Given the description of an element on the screen output the (x, y) to click on. 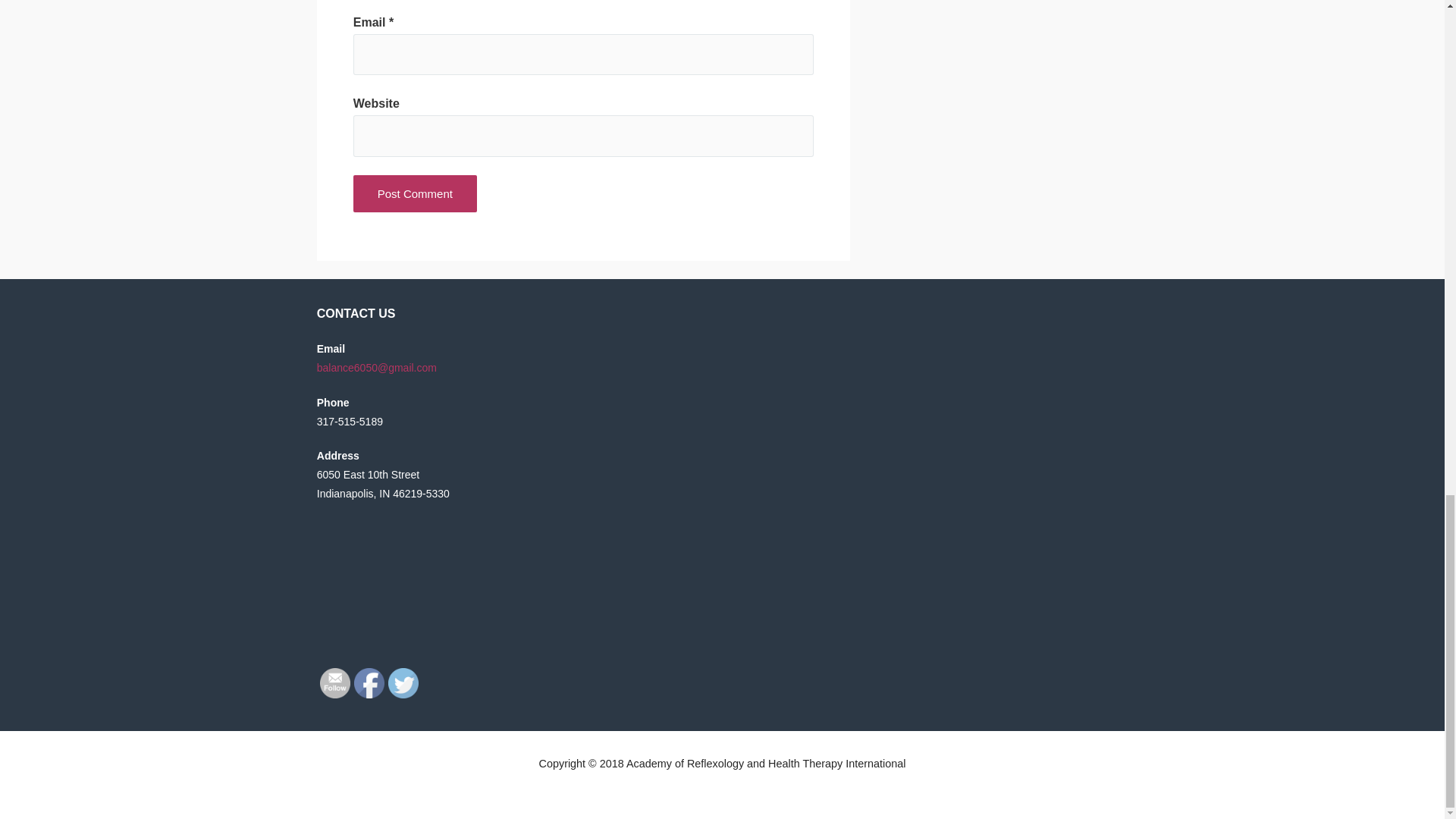
Twitter (403, 683)
Post Comment (415, 193)
Post Comment (415, 193)
Facebook (368, 683)
Follow by Email (335, 683)
